Given the description of an element on the screen output the (x, y) to click on. 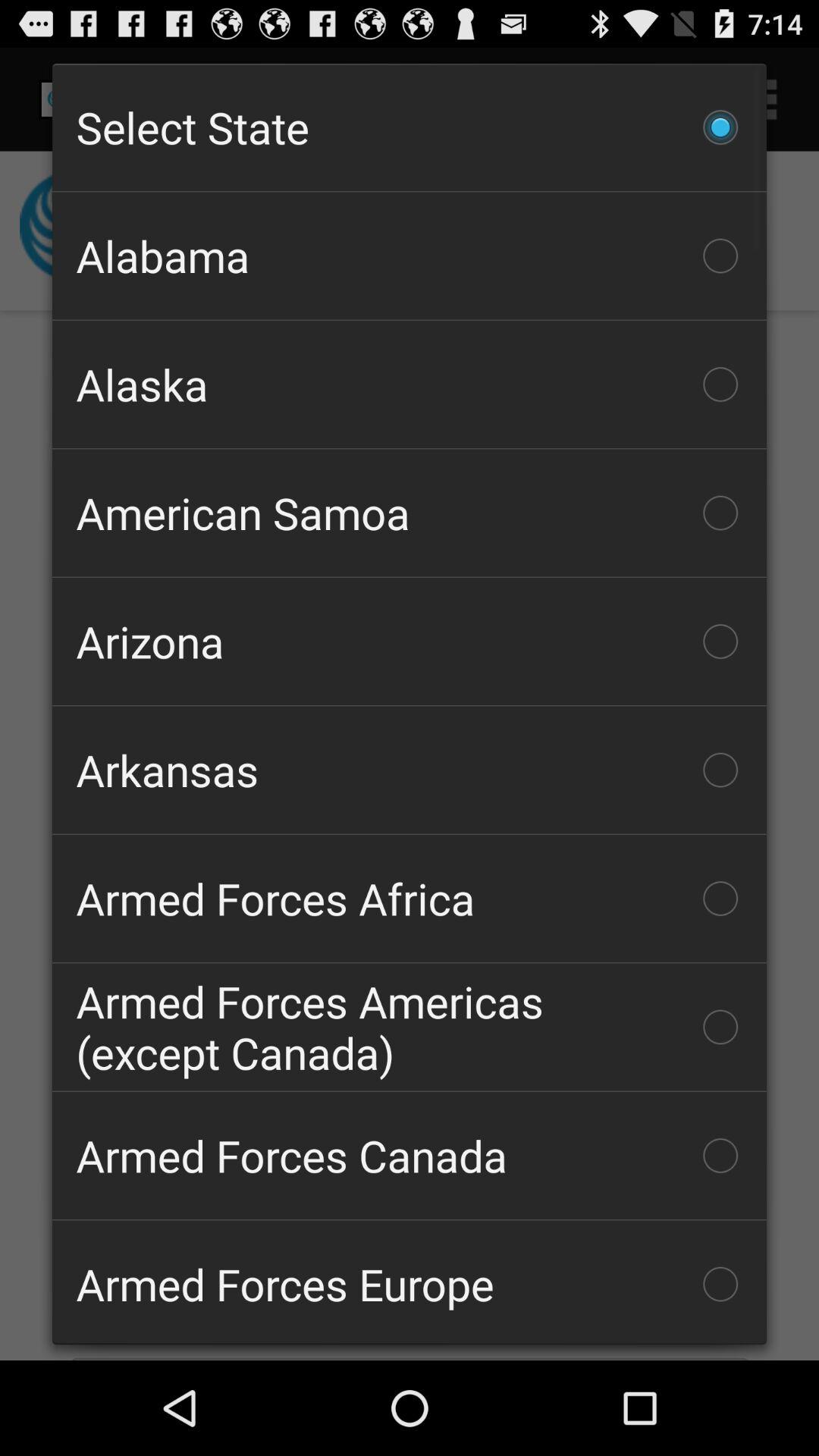
click the arizona item (409, 641)
